Given the description of an element on the screen output the (x, y) to click on. 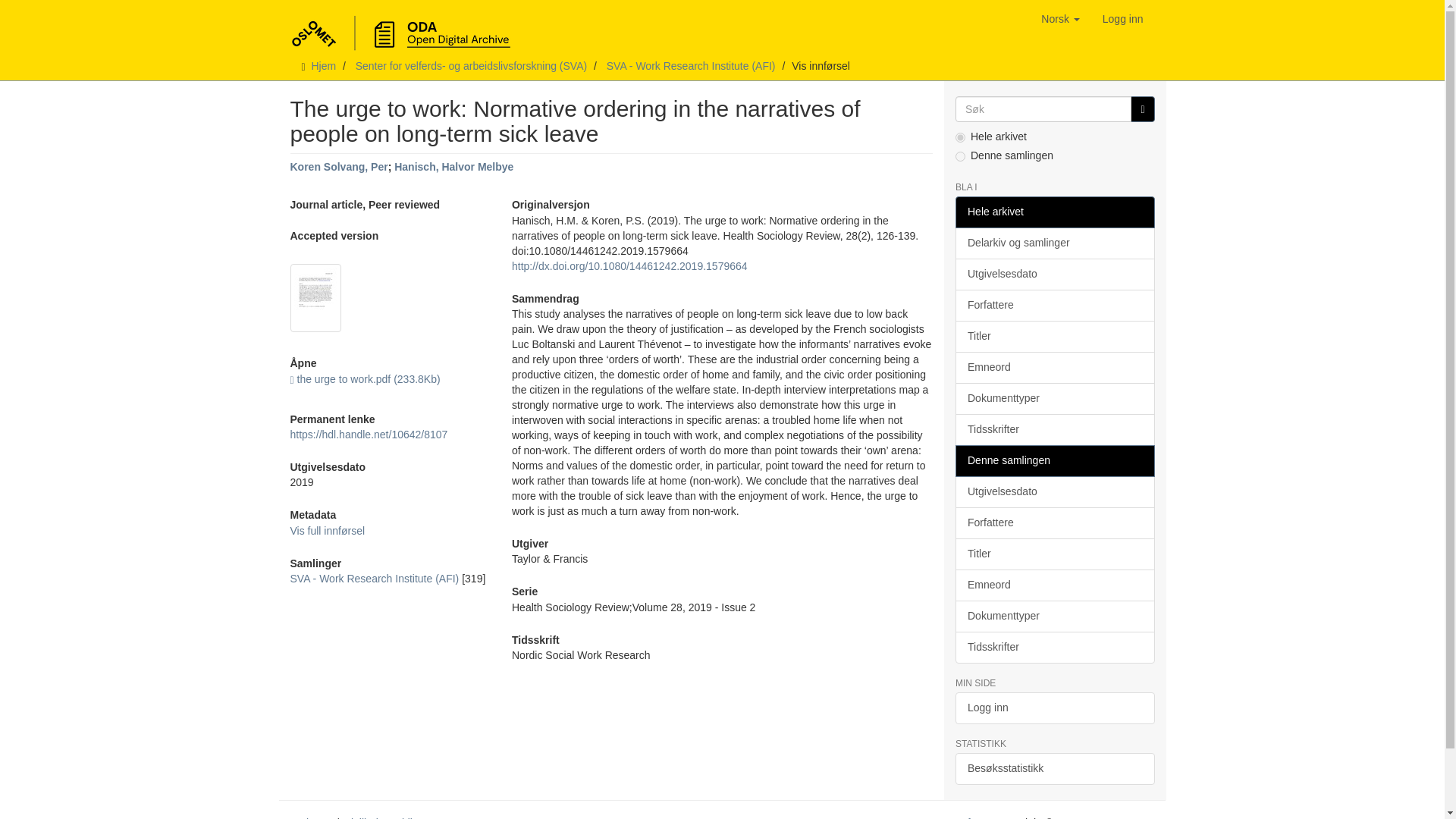
Koren Solvang, Per (338, 166)
Hjem (323, 65)
Titler (1054, 336)
Emneord (1054, 368)
Delarkiv og samlinger (1054, 243)
Logg inn (1122, 18)
Hanisch, Halvor Melbye (453, 166)
Hele arkivet (1054, 212)
Forfattere (1054, 305)
Norsk  (1059, 18)
Utgivelsesdato (1054, 274)
